Given the description of an element on the screen output the (x, y) to click on. 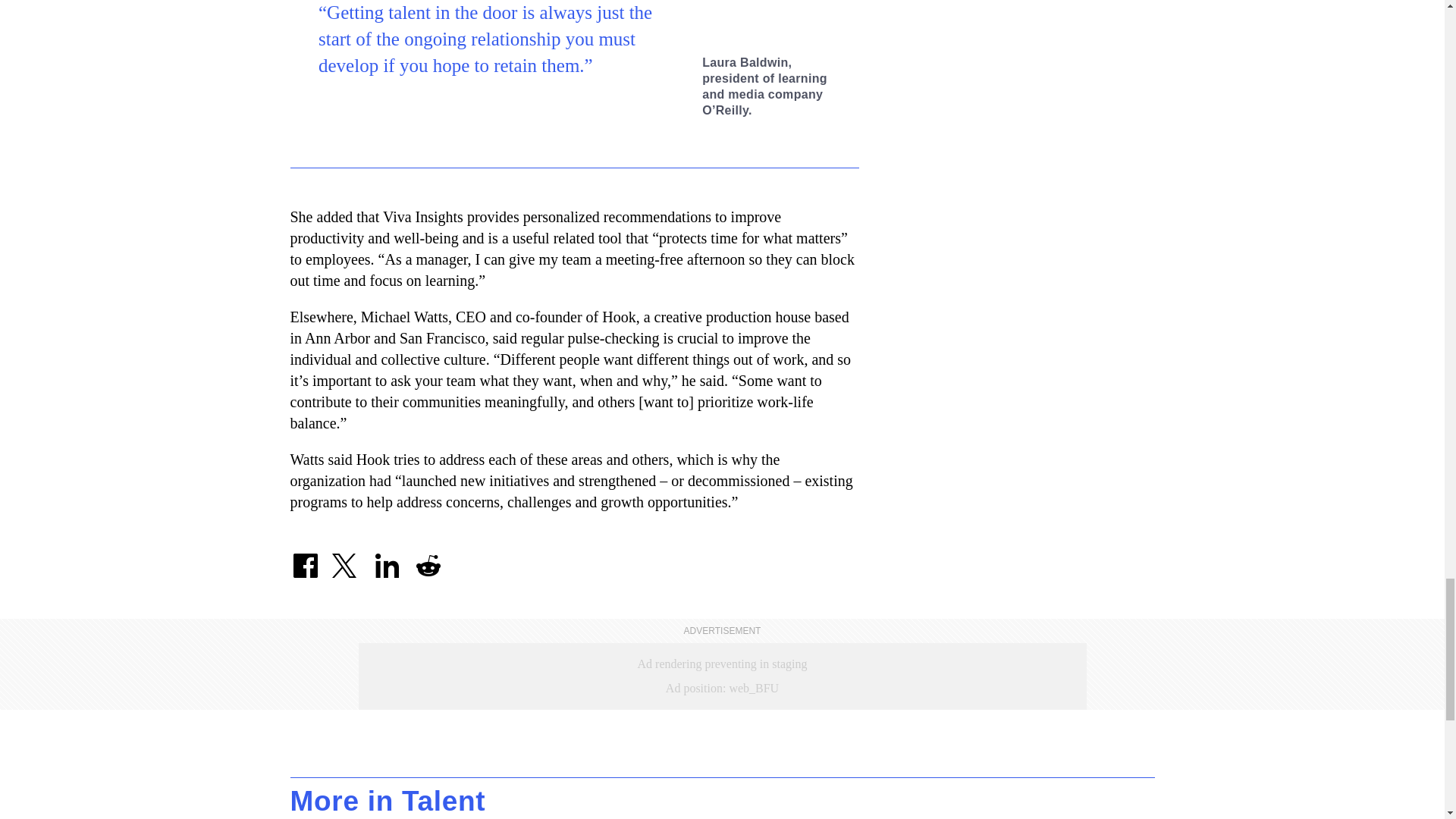
Share on LinkedIn (386, 558)
Share on Reddit (427, 558)
Share on Facebook (304, 558)
Share on Twitter (345, 558)
